Given the description of an element on the screen output the (x, y) to click on. 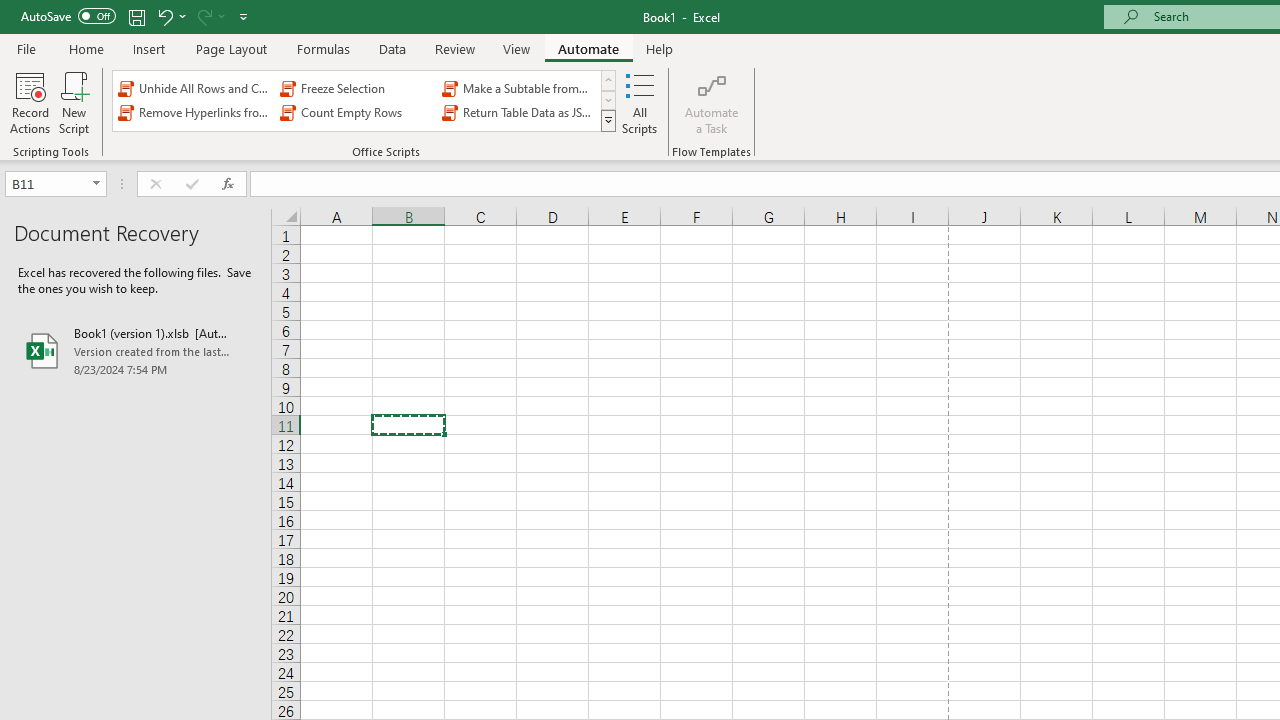
Unhide All Rows and Columns (194, 88)
Count Empty Rows (356, 112)
New Script (73, 102)
Make a Subtable from a Selection (518, 88)
All Scripts (639, 102)
Record Actions (29, 102)
